Given the description of an element on the screen output the (x, y) to click on. 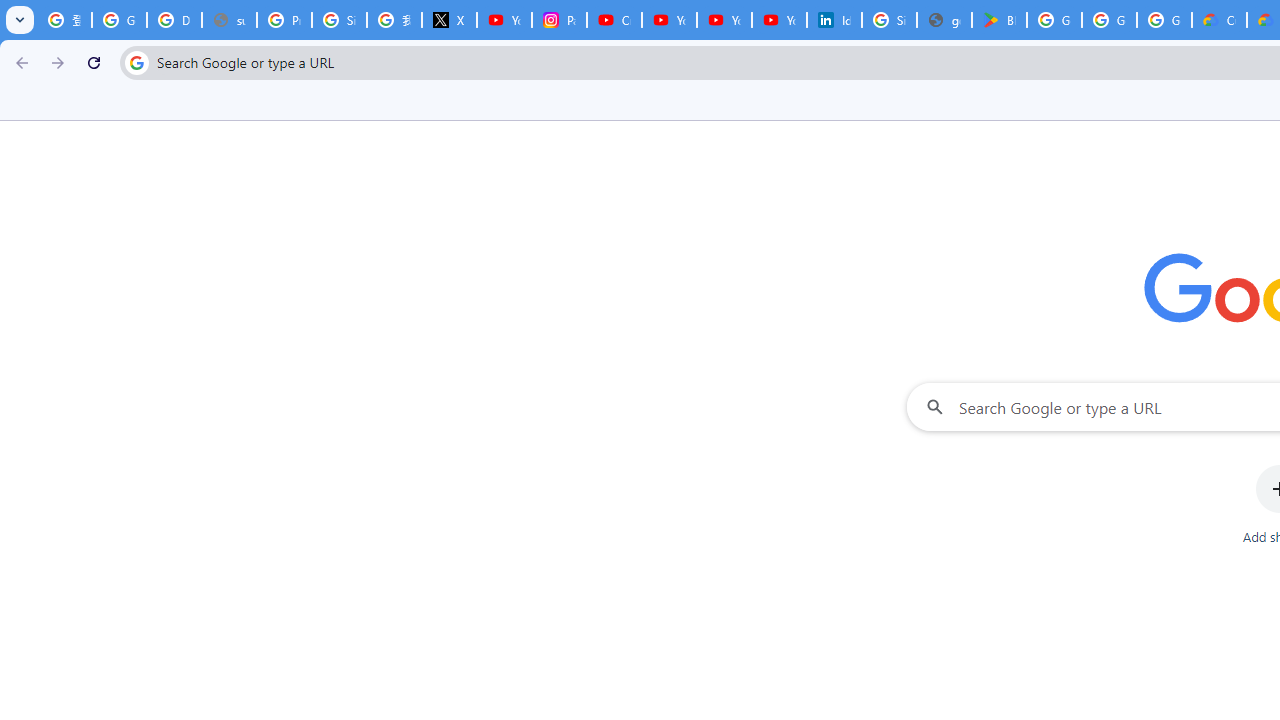
Google Workspace - Specific Terms (1163, 20)
YouTube Content Monetization Policies - How YouTube Works (504, 20)
support.google.com - Network error (229, 20)
YouTube Culture & Trends - YouTube Top 10, 2021 (724, 20)
